Given the description of an element on the screen output the (x, y) to click on. 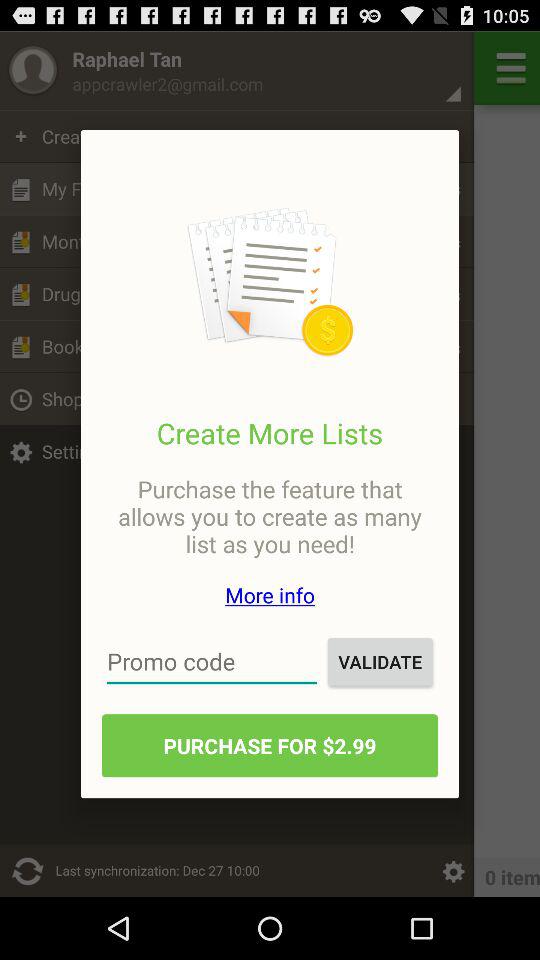
scroll until more info icon (269, 594)
